Given the description of an element on the screen output the (x, y) to click on. 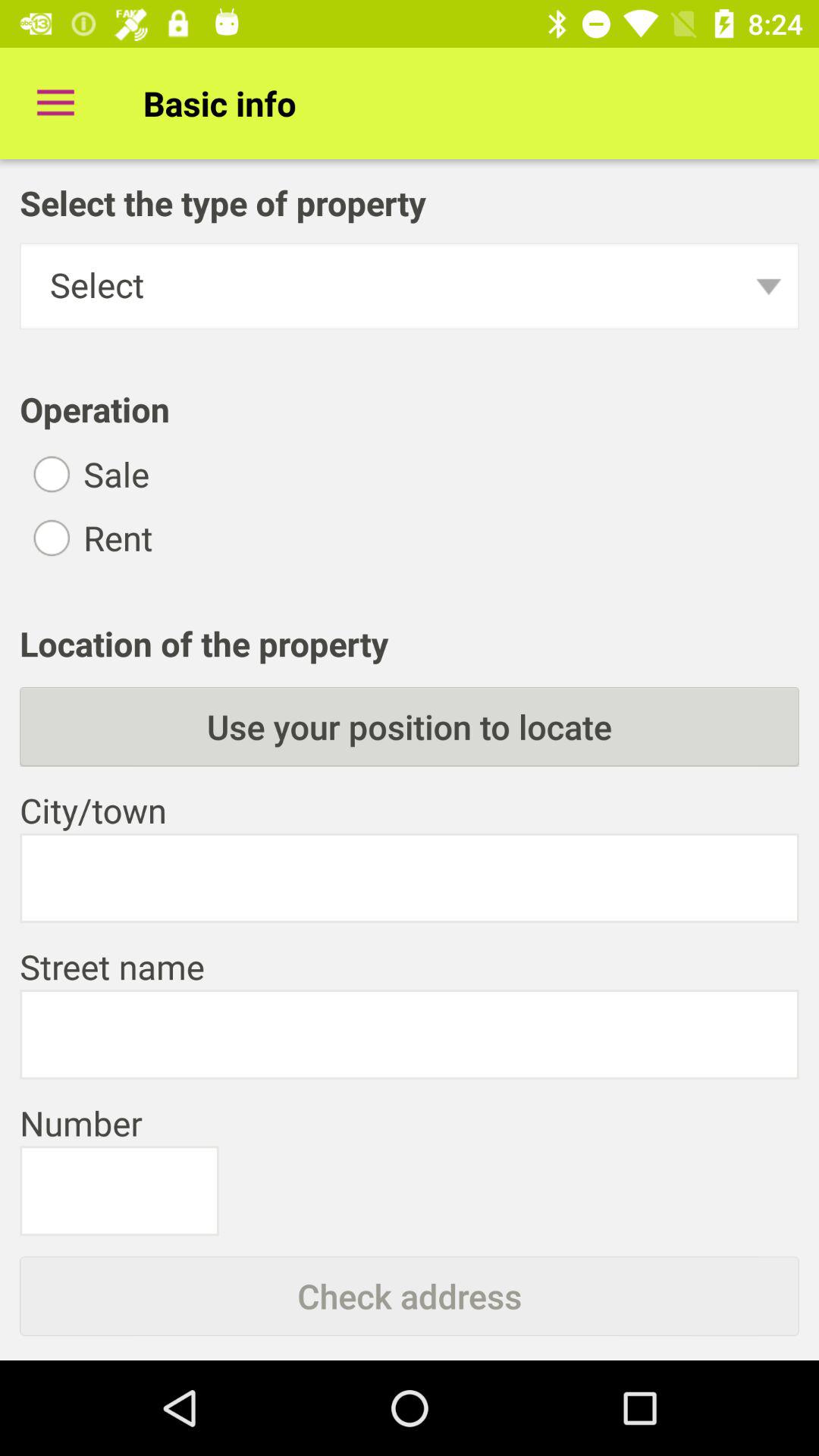
enter city/town (409, 878)
